Given the description of an element on the screen output the (x, y) to click on. 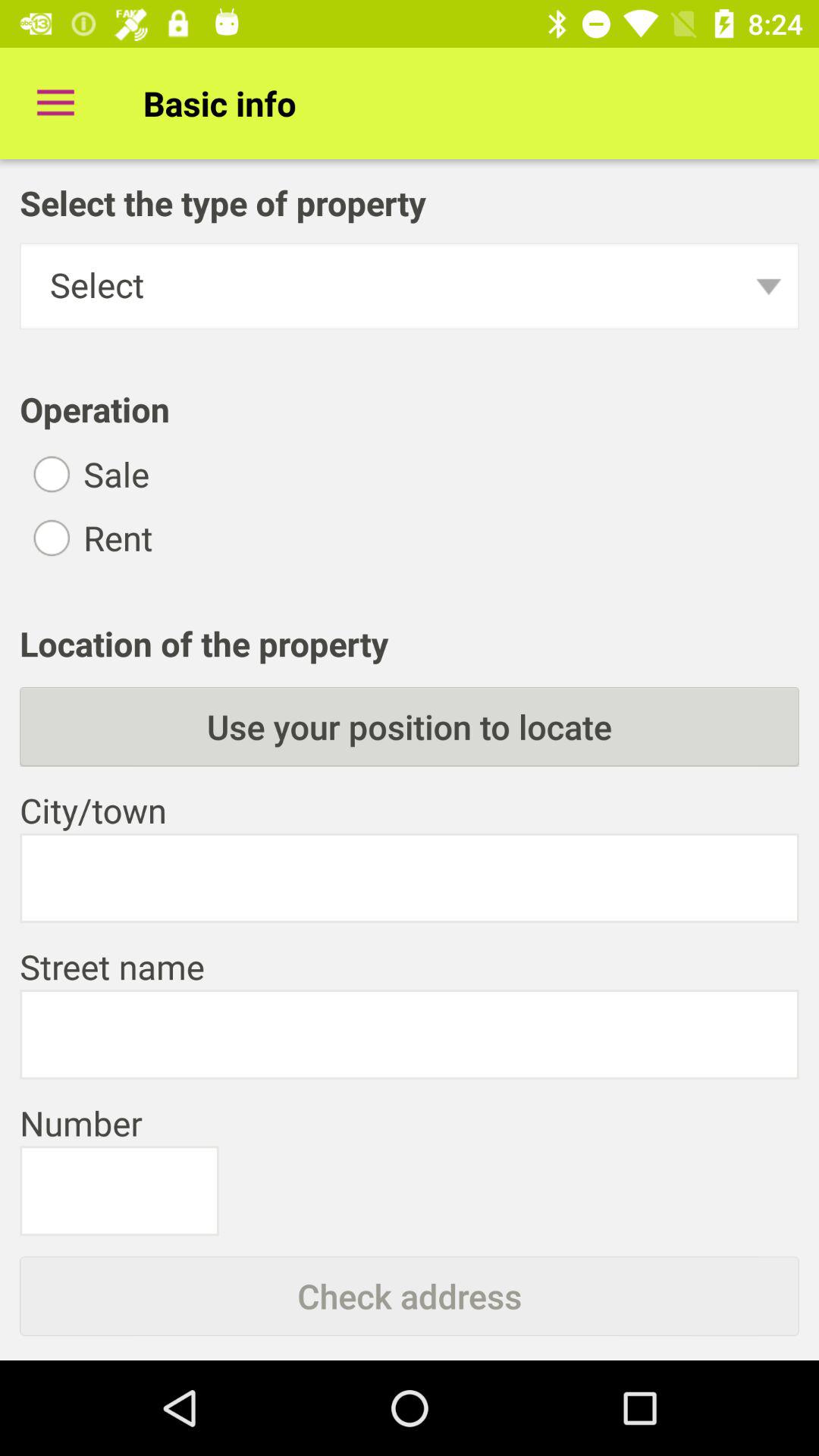
enter city/town (409, 878)
